Given the description of an element on the screen output the (x, y) to click on. 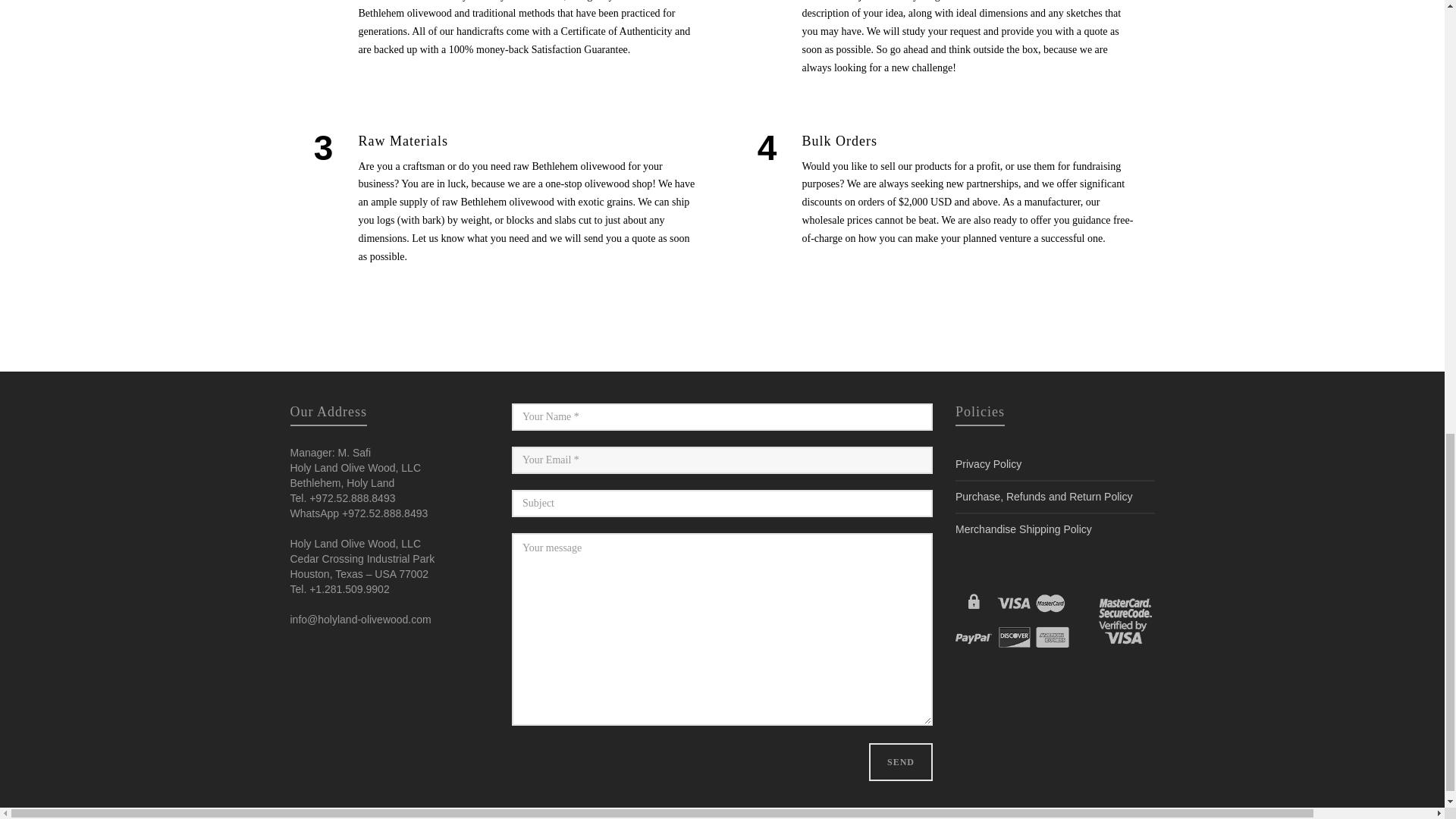
SEND (901, 761)
